Given the description of an element on the screen output the (x, y) to click on. 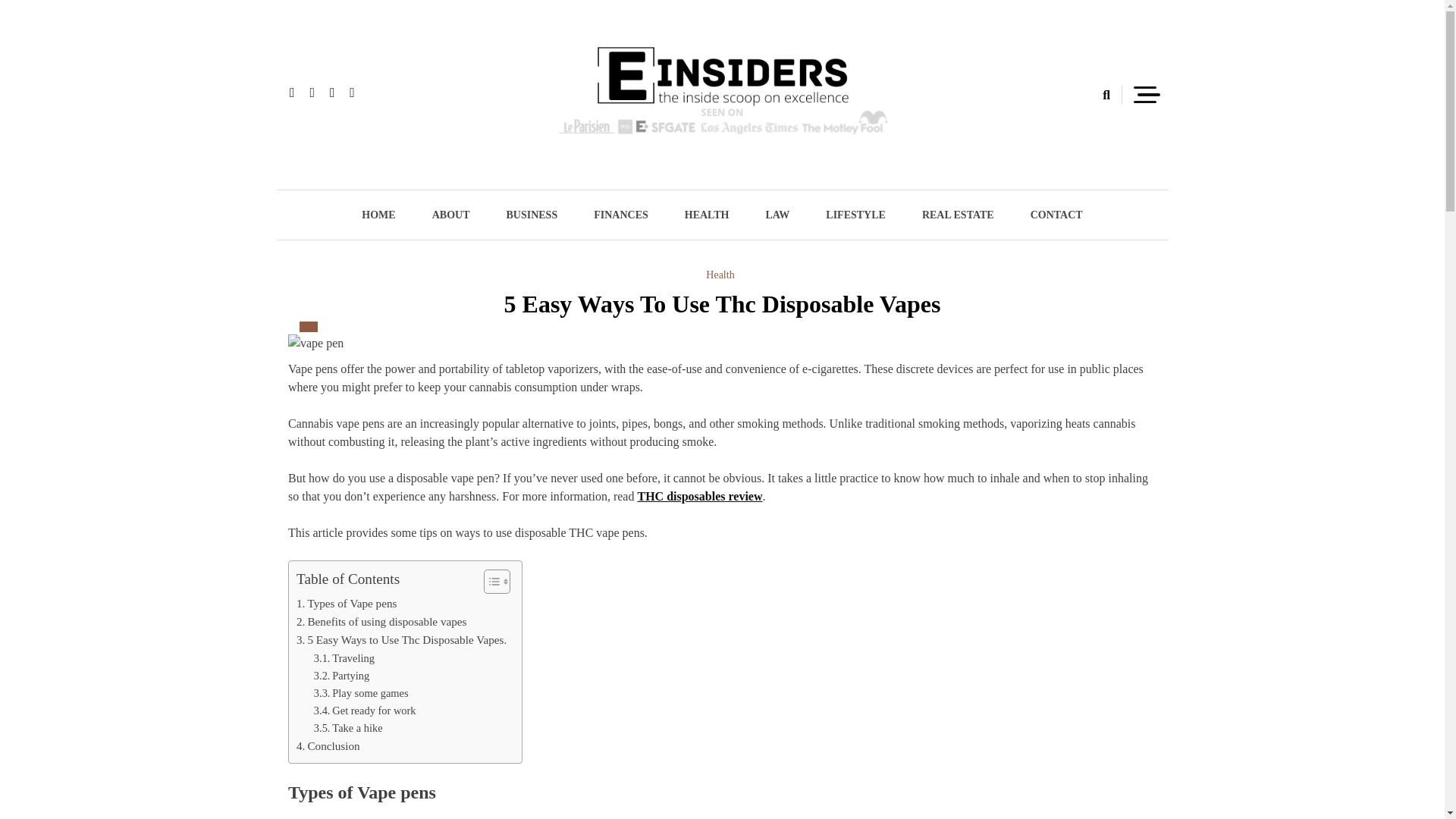
Traveling (344, 658)
Benefits of using disposable vapes (381, 621)
HEALTH (707, 214)
5 Easy Ways to Use Thc Disposable Vapes. (401, 639)
FINANCES (620, 214)
Partying (341, 675)
Get ready for work (365, 710)
THC disposables review (699, 495)
BUSINESS (531, 214)
REAL ESTATE (957, 214)
Play some games (361, 692)
Types of Vape pens (346, 603)
ABOUT (450, 214)
LAW (777, 214)
